Given the description of an element on the screen output the (x, y) to click on. 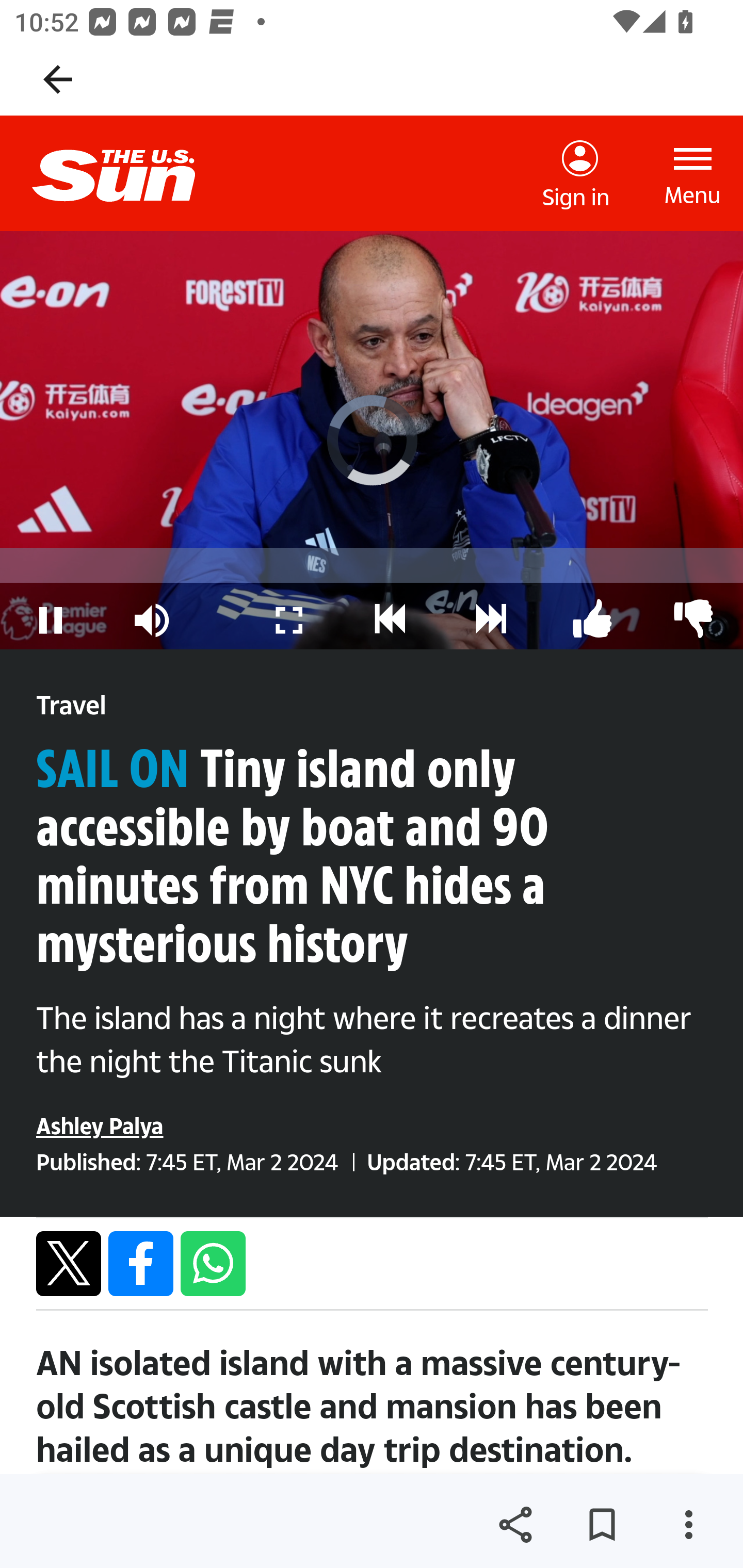
Navigate up (57, 79)
Sign in to The Sun Sign in (576, 173)
The US Sun homepage The Sun (129, 172)
Open Navigation Menu (693, 172)
Play (51, 610)
Mute (152, 610)
Fullscreen (289, 610)
C (390, 610)
D (490, 610)
B (592, 610)
A (692, 610)
Travel (71, 705)
Posts by Ashley Palya Ashley Palya (100, 1125)
Share by twitter (69, 1262)
Share by facebook (141, 1262)
Share by whatsapp (212, 1262)
Share (514, 1524)
Save for later (601, 1524)
More options (688, 1524)
